Given the description of an element on the screen output the (x, y) to click on. 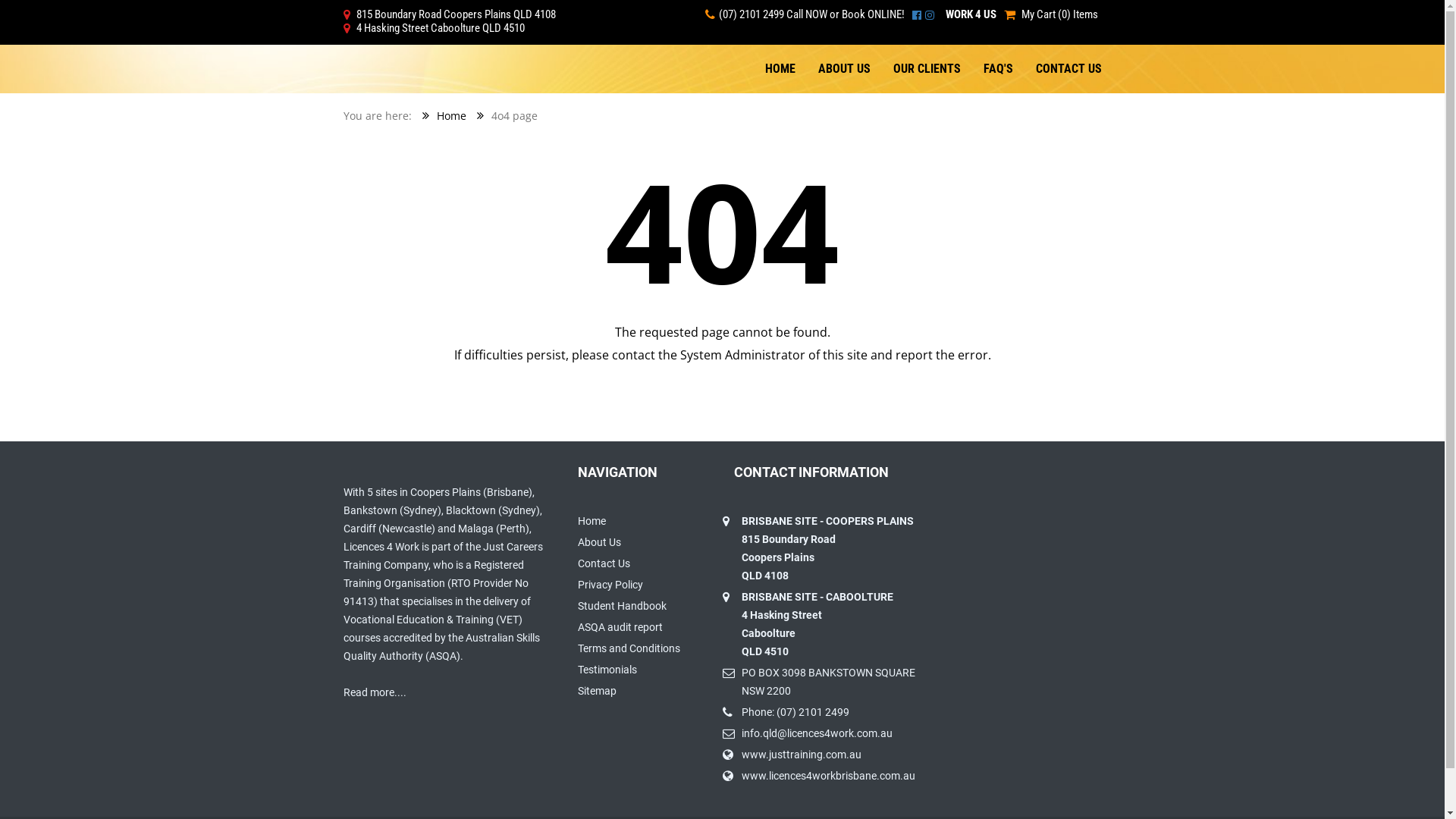
OUR CLIENTS Element type: text (926, 68)
WORK 4 US Element type: text (969, 14)
Testimonials Element type: text (607, 669)
www.licences4workbrisbane.com.au Element type: text (828, 775)
info.qld@licences4work.com.au Element type: text (816, 733)
Privacy Policy Element type: text (610, 584)
Student Handbook Element type: text (621, 605)
Home Element type: text (591, 520)
ASQA audit report Element type: text (619, 627)
About Us Element type: text (599, 542)
(07) 2101 2499 Element type: text (812, 712)
HOME Element type: text (779, 68)
Terms and Conditions Element type: text (628, 648)
Sitemap Element type: text (596, 690)
My Cart (0) Items Element type: text (1058, 14)
FAQ'S Element type: text (998, 68)
www.justtraining.com.au Element type: text (801, 754)
(07) 2101 2499 Element type: text (745, 14)
Contact Us Element type: text (603, 563)
CONTACT US Element type: text (1067, 68)
ABOUT US Element type: text (843, 68)
Home Element type: text (451, 115)
Read more.... Element type: text (373, 692)
